Given the description of an element on the screen output the (x, y) to click on. 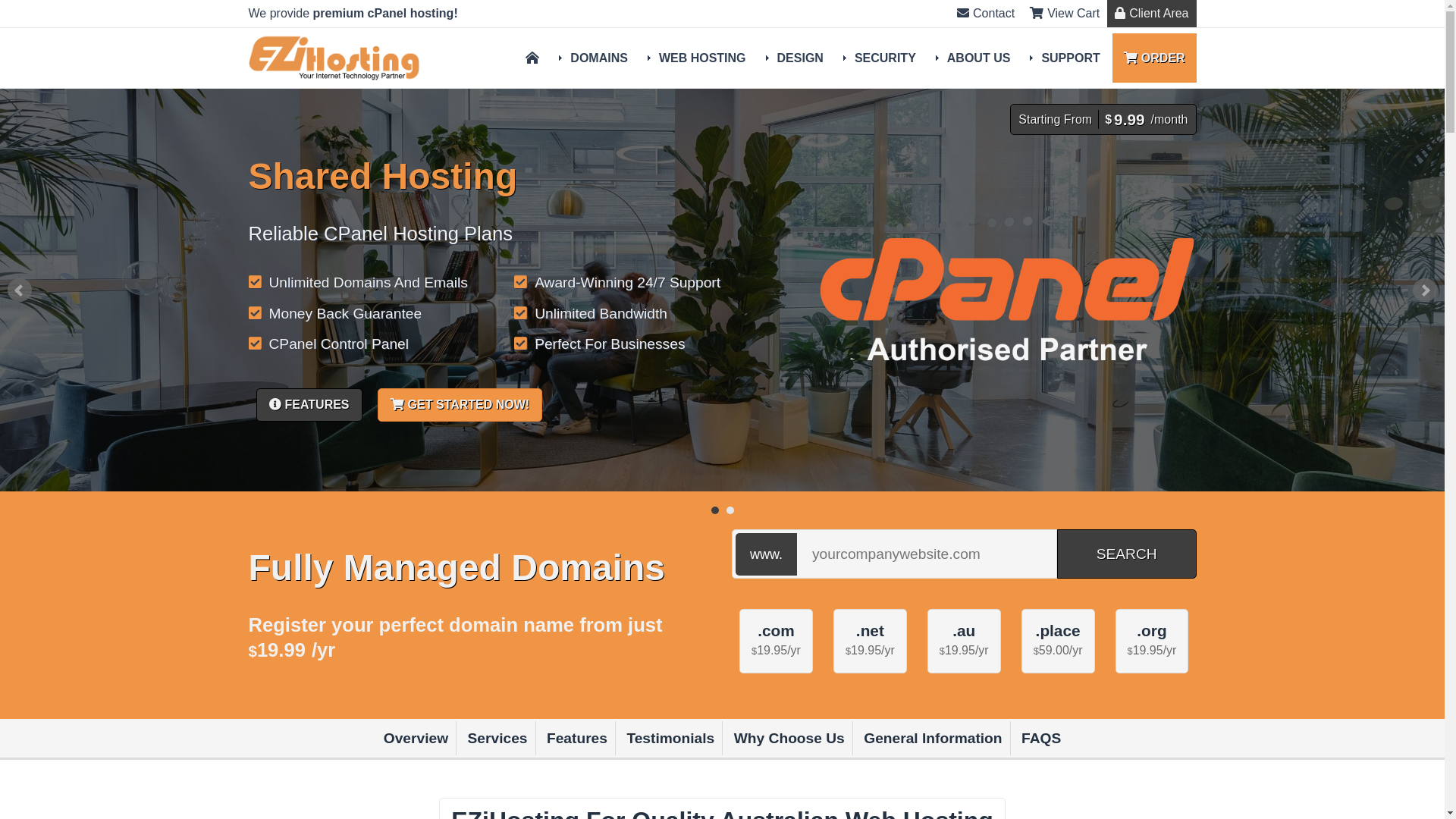
FEATURES Element type: text (309, 404)
Client Area Element type: text (1151, 13)
Features Element type: text (577, 738)
Services Element type: text (498, 738)
ABOUT US Element type: text (975, 57)
General Information Element type: text (933, 738)
GET STARTED NOW! Element type: text (459, 404)
SUPPORT Element type: text (1066, 57)
SECURITY Element type: text (881, 57)
View Cart Element type: text (1064, 13)
Testimonials Element type: text (670, 738)
Next Element type: text (1424, 290)
Prev Element type: text (19, 290)
Search Element type: text (1126, 553)
WEB HOSTING Element type: text (699, 57)
ORDER Element type: text (1154, 57)
Contact Element type: text (985, 13)
Why Choose Us Element type: text (789, 738)
DESIGN Element type: text (796, 57)
FAQS Element type: text (1040, 738)
1 Element type: text (714, 510)
Overview Element type: text (416, 738)
2 Element type: text (730, 510)
DOMAINS Element type: text (595, 57)
